Given the description of an element on the screen output the (x, y) to click on. 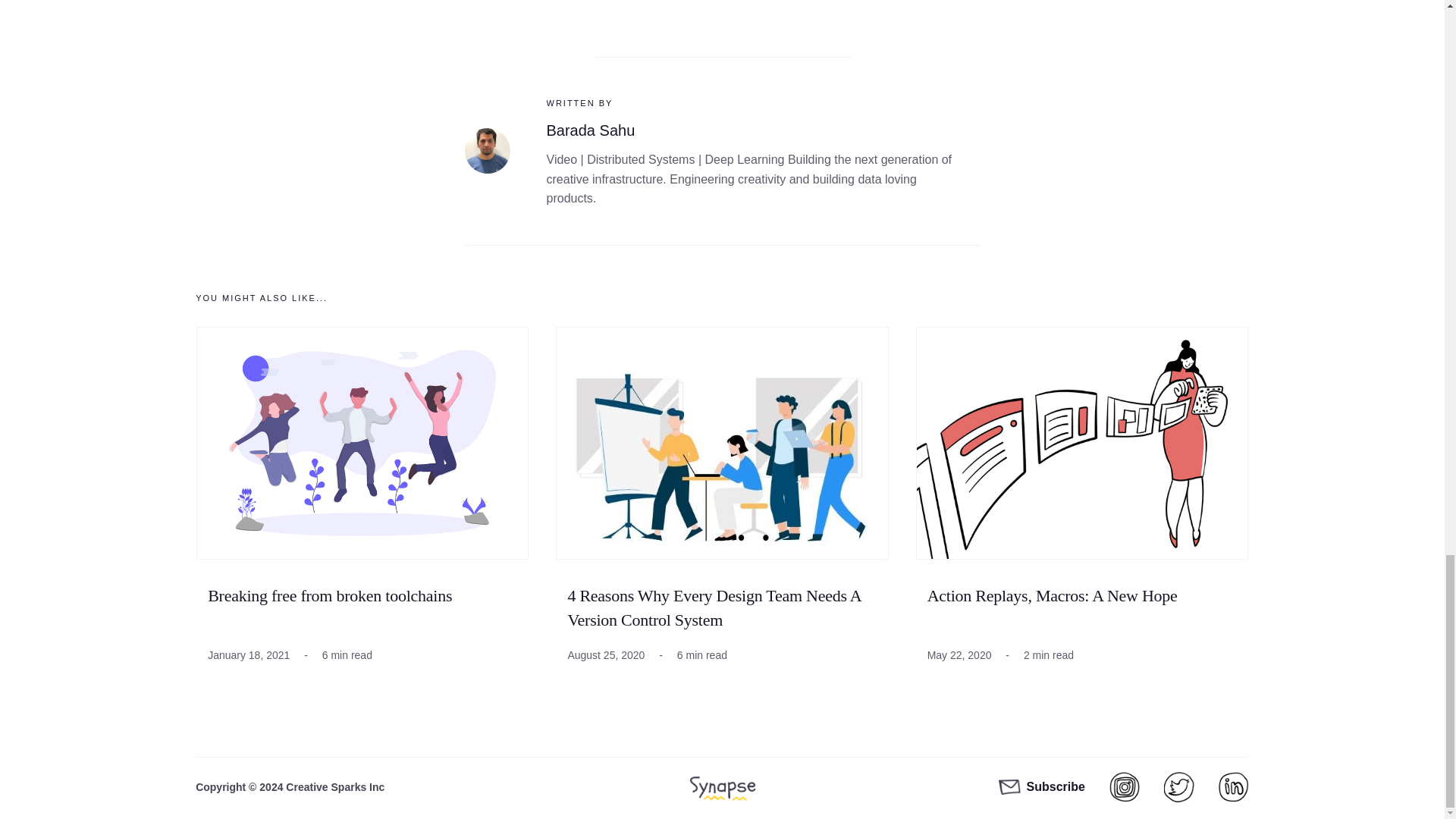
Action Replays, Macros: A New Hope (1052, 596)
Barada Sahu (590, 129)
Barada Sahu (590, 129)
Subscribe (1041, 786)
Barada Sahu (486, 149)
Breaking free from broken toolchains (329, 596)
